Given the description of an element on the screen output the (x, y) to click on. 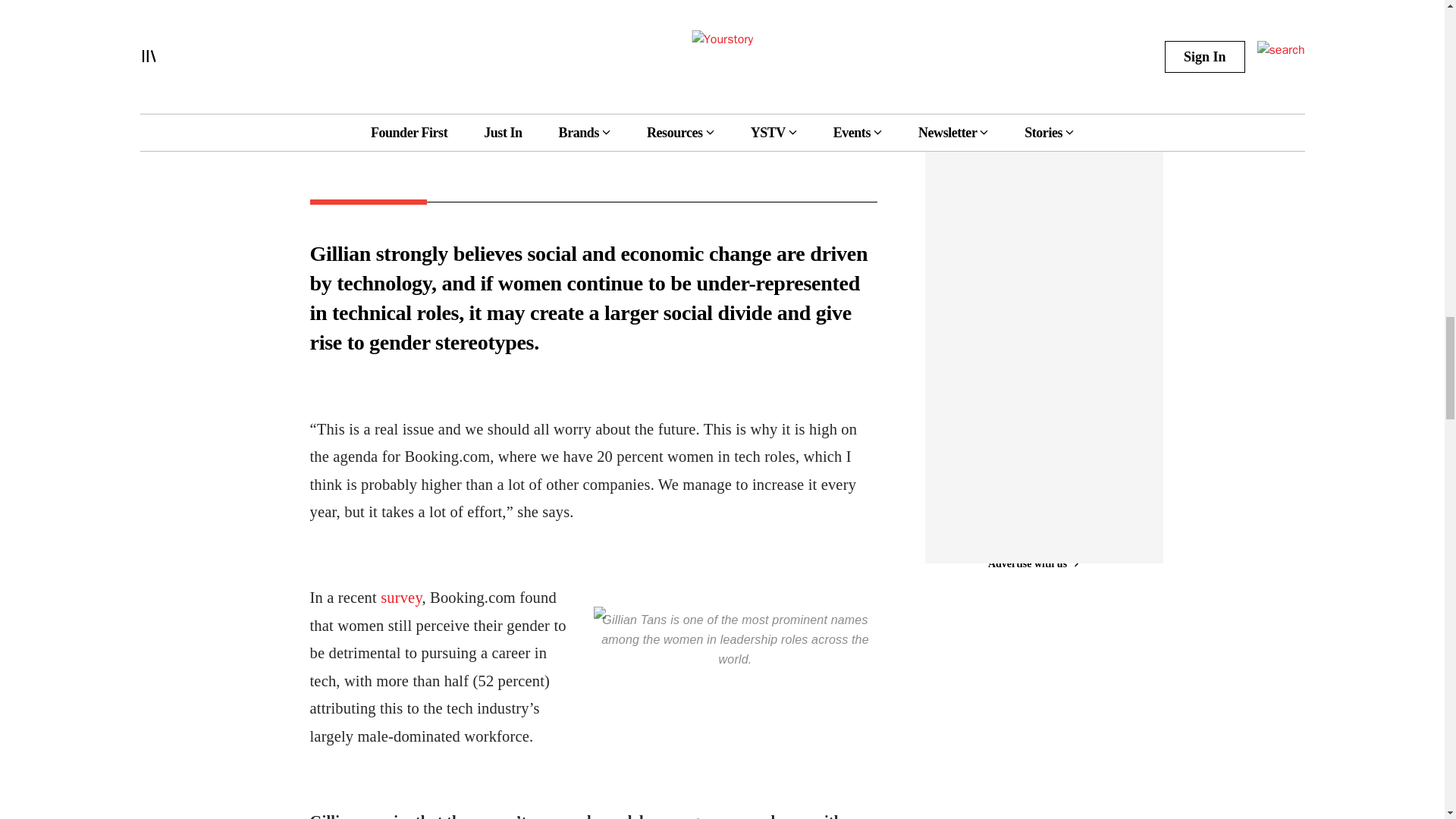
survey (401, 597)
